Given the description of an element on the screen output the (x, y) to click on. 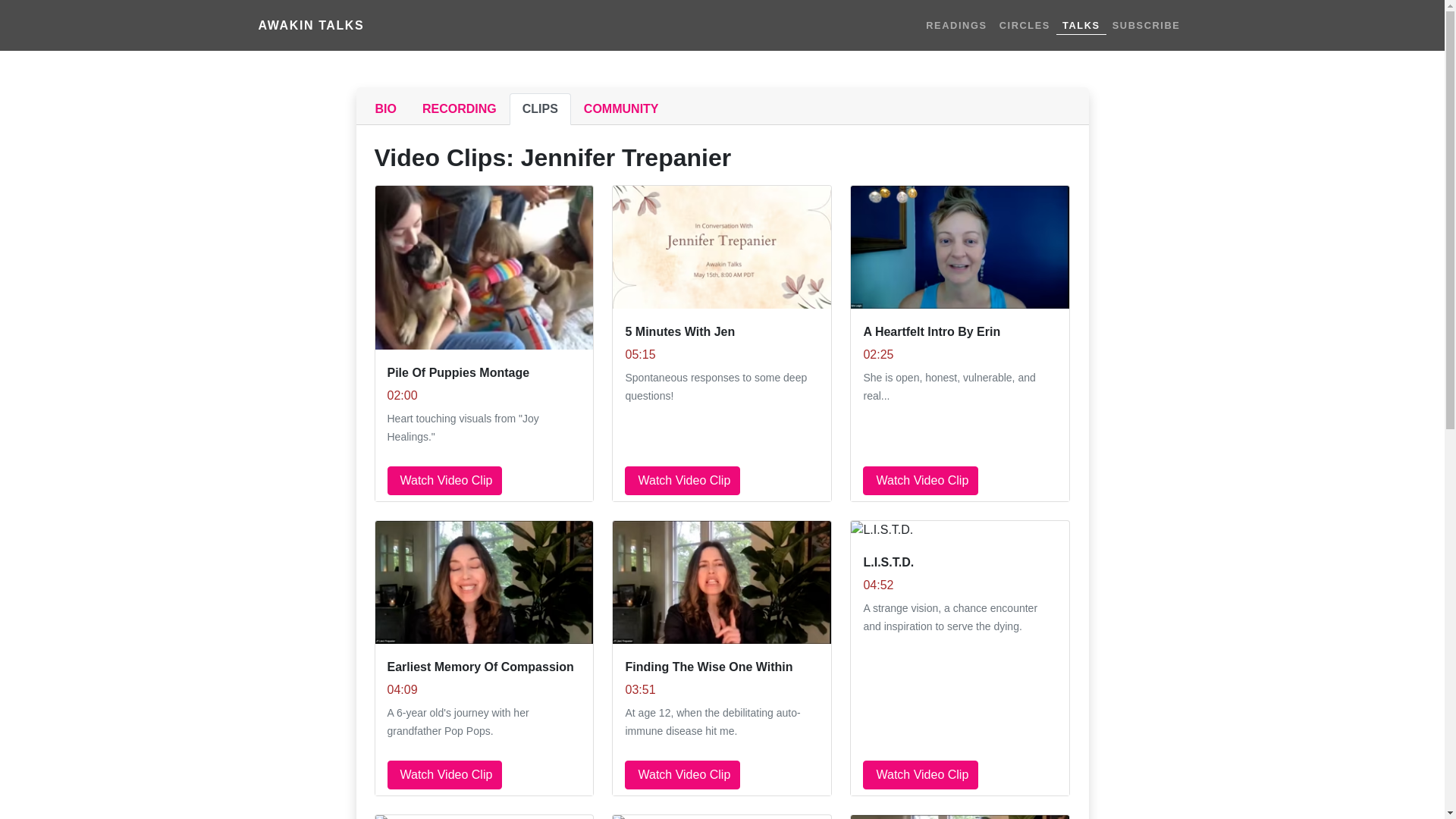
TALKS (1081, 23)
Watch Video Clip (444, 774)
AWAKIN TALKS (310, 25)
RECORDING (459, 109)
Watch Video Clip (444, 480)
CIRCLES (1024, 25)
READINGS (956, 25)
Watch Video Clip (681, 774)
Watch Video Clip (920, 480)
SUBSCRIBE (1146, 25)
Watch Video Clip (681, 480)
CLIPS (539, 109)
COMMUNITY (620, 109)
BIO (385, 109)
